Given the description of an element on the screen output the (x, y) to click on. 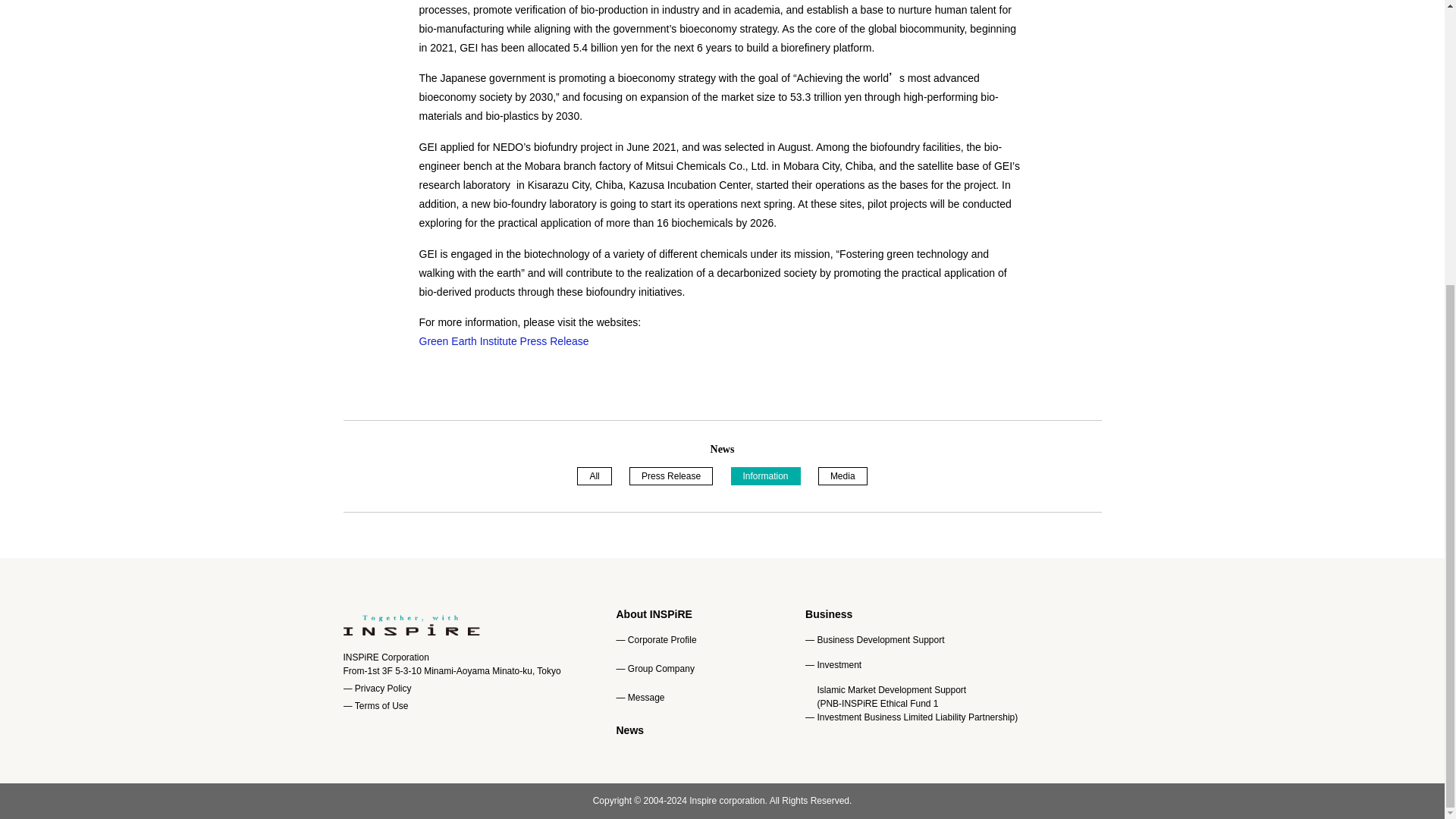
Green Earth Institute Press Release (503, 340)
All (593, 475)
Message (646, 697)
Privacy Policy (383, 688)
Press Release (670, 475)
Business (828, 613)
Media (842, 475)
Group Company (660, 668)
About INSPiRE (653, 613)
Investment (838, 664)
Information (765, 475)
Business Development Support (879, 640)
Terms of Use (382, 705)
Corporate Profile (662, 640)
News (629, 730)
